Given the description of an element on the screen output the (x, y) to click on. 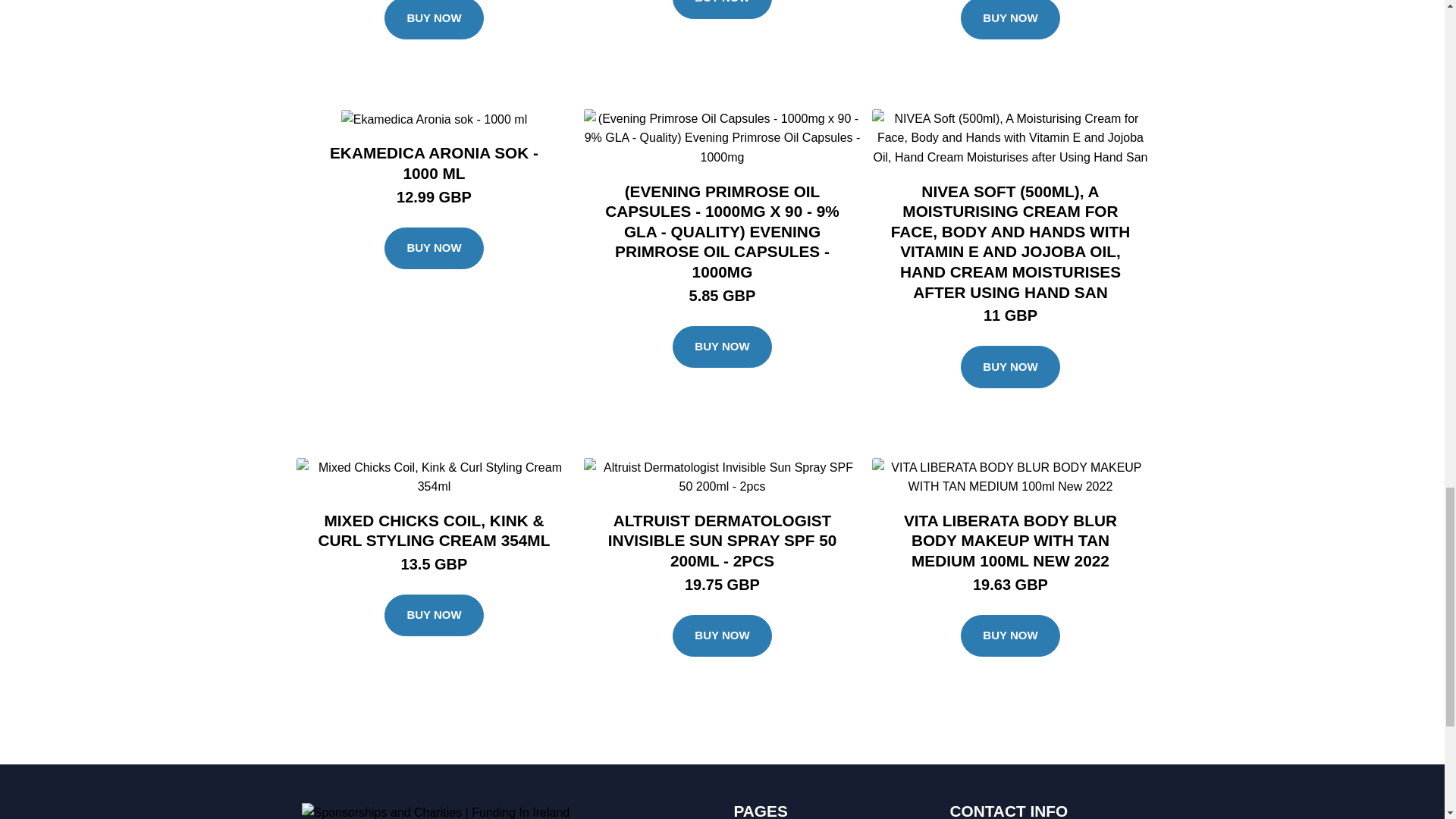
BUY NOW (433, 19)
BUY NOW (721, 9)
